Given the description of an element on the screen output the (x, y) to click on. 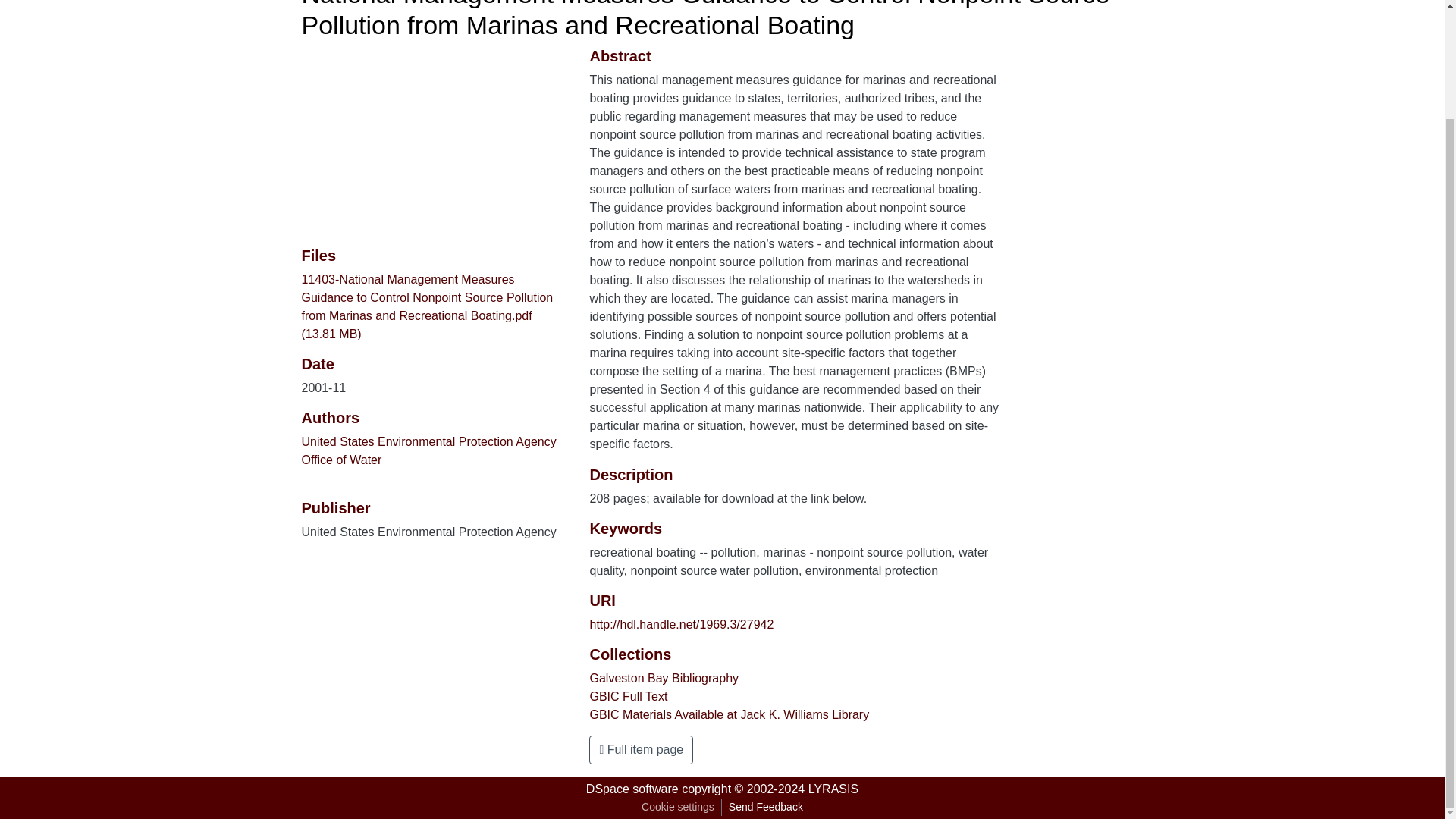
Cookie settings (677, 806)
Full item page (641, 749)
DSpace software (632, 788)
Send Feedback (765, 806)
Galveston Bay Bibliography (663, 677)
GBIC Materials Available at Jack K. Williams Library (729, 714)
GBIC Full Text (627, 696)
LYRASIS (833, 788)
